Given the description of an element on the screen output the (x, y) to click on. 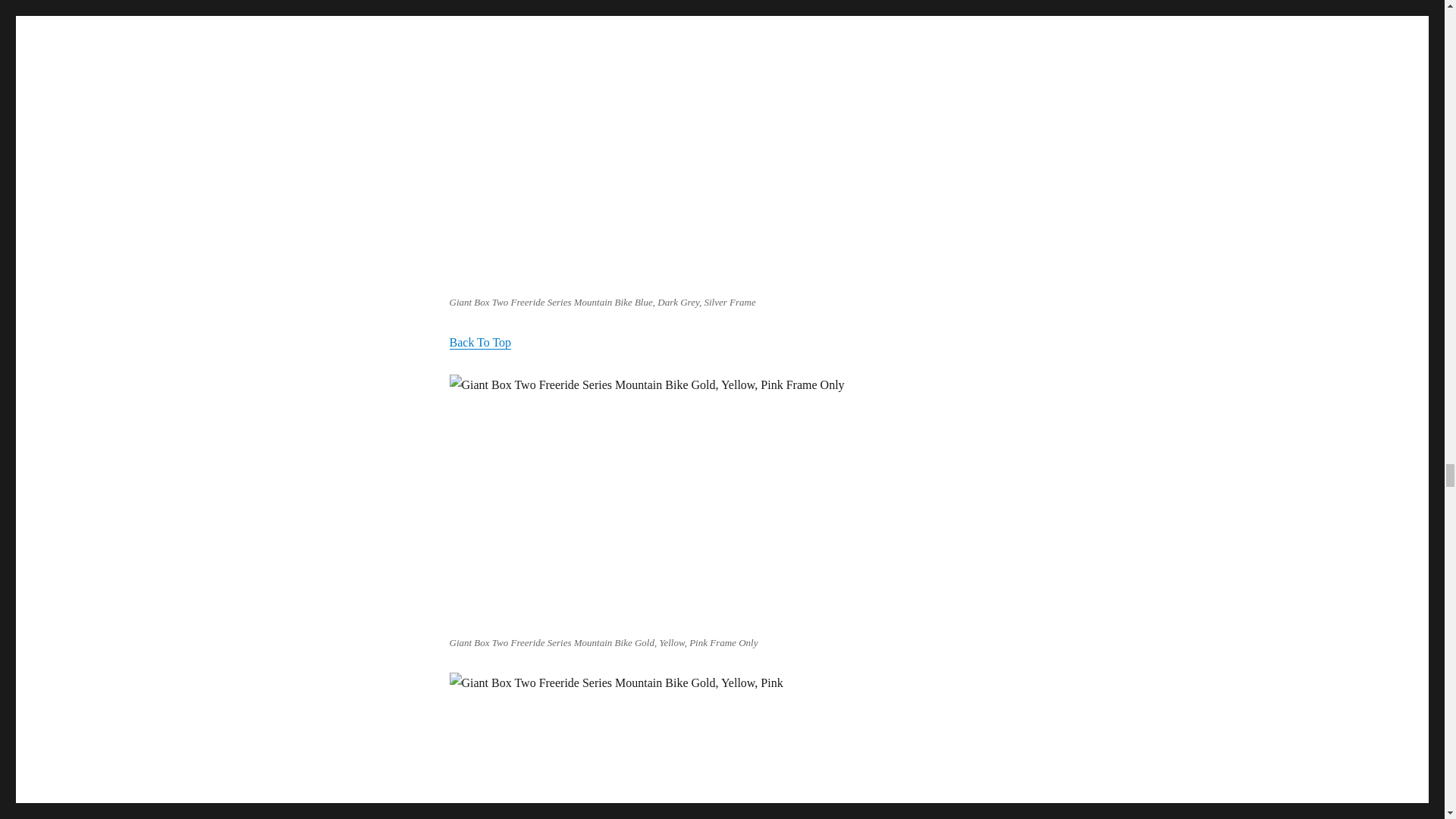
Back To Top (479, 341)
